Given the description of an element on the screen output the (x, y) to click on. 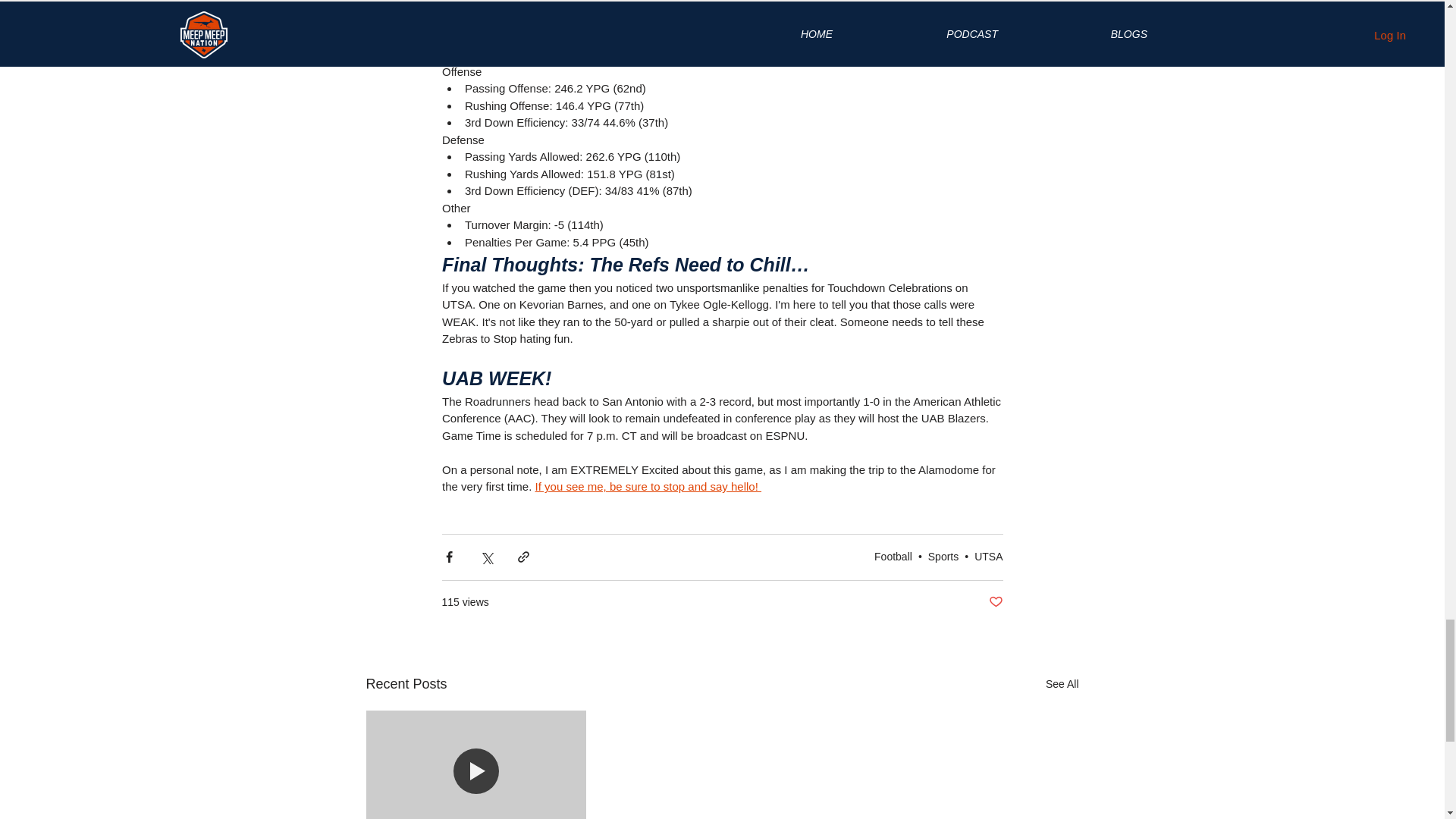
UTSA (988, 556)
Sports (943, 556)
Post not marked as liked (995, 602)
If you see me, be sure to stop and say hello!  (647, 486)
See All (1061, 684)
Football (893, 556)
